Given the description of an element on the screen output the (x, y) to click on. 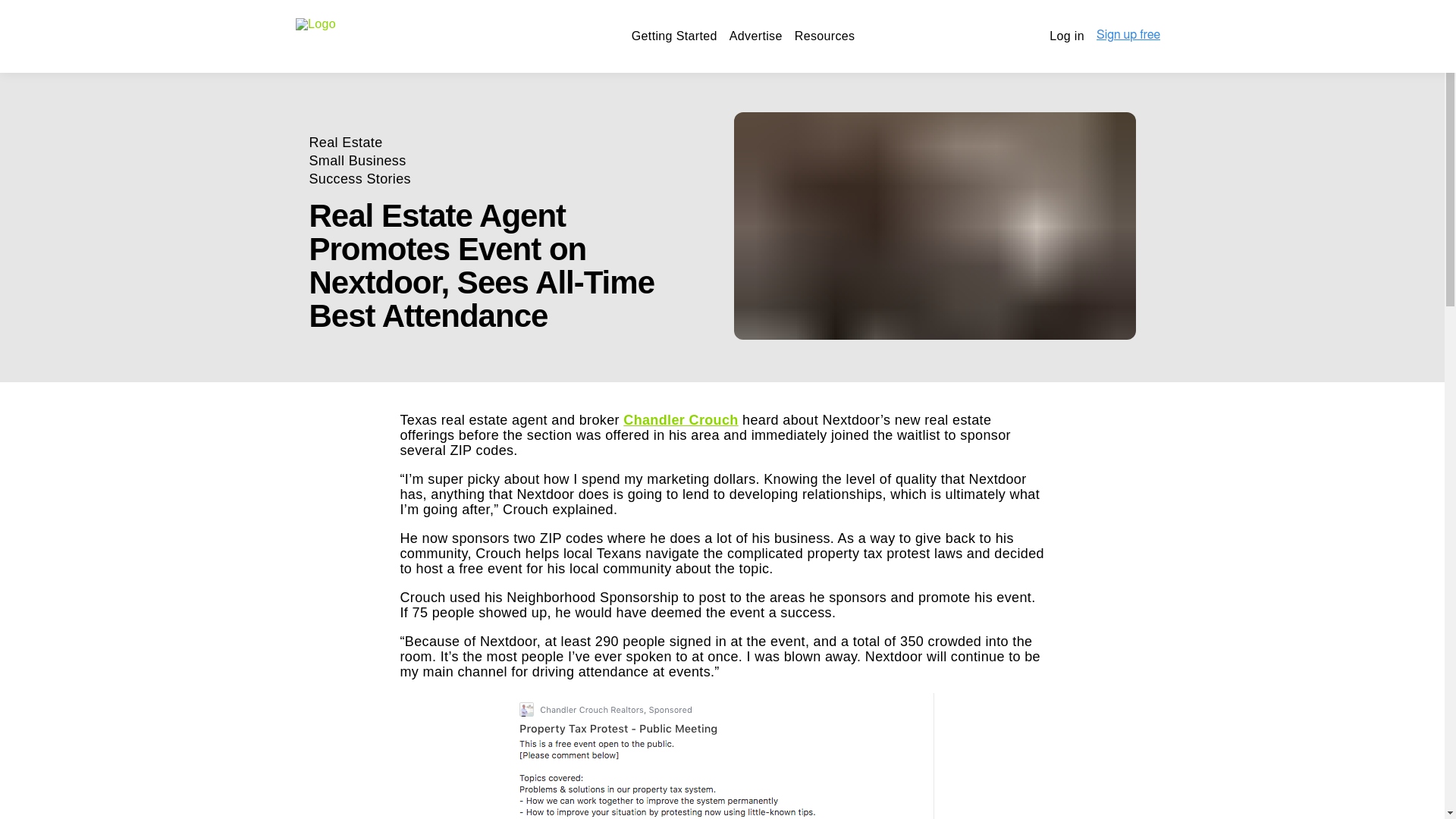
Getting Started (674, 35)
Advertise (756, 35)
Chandler Crouch (680, 419)
Log in (1066, 35)
Resources (825, 35)
